Given the description of an element on the screen output the (x, y) to click on. 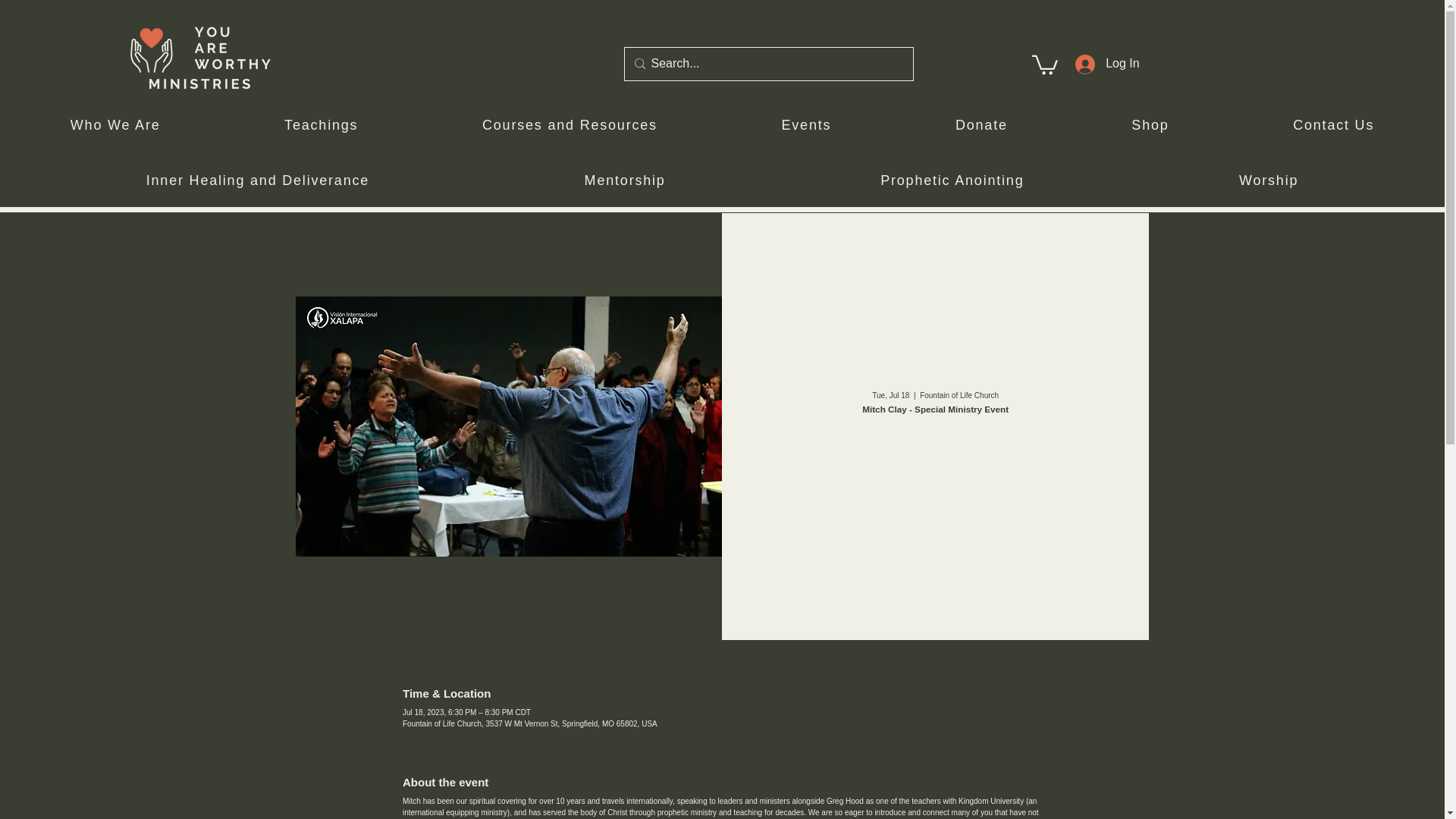
Events (805, 125)
Contact Us (1332, 125)
Shop (1150, 125)
Log In (1105, 63)
Donate (980, 125)
Inner Healing and Deliverance (258, 181)
Prophetic Anointing (952, 181)
Mentorship (625, 181)
Teachings (320, 125)
Courses and Resources (569, 125)
Who We Are (115, 125)
Worship (1268, 181)
